Given the description of an element on the screen output the (x, y) to click on. 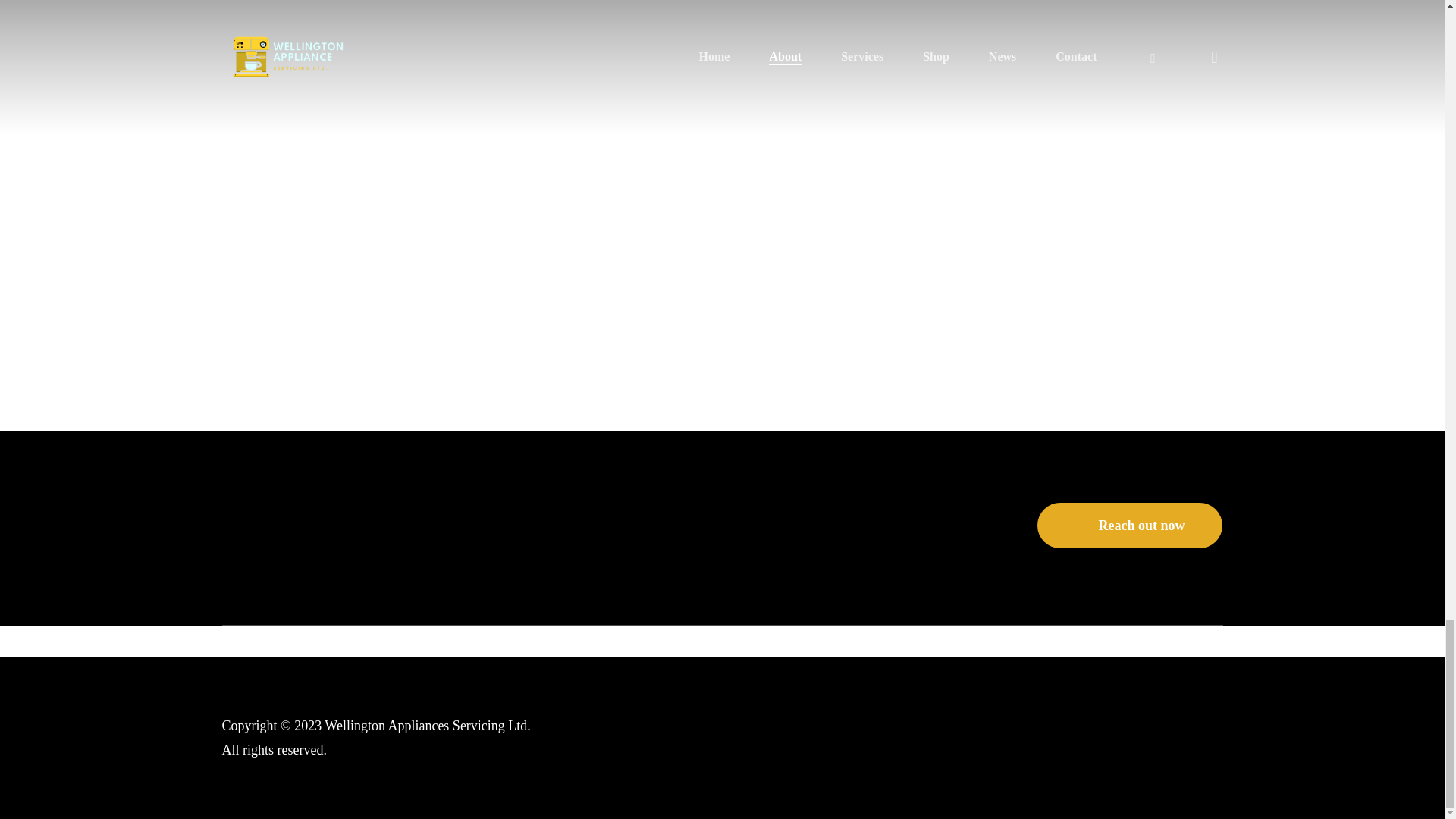
Reach out now (1129, 525)
